Given the description of an element on the screen output the (x, y) to click on. 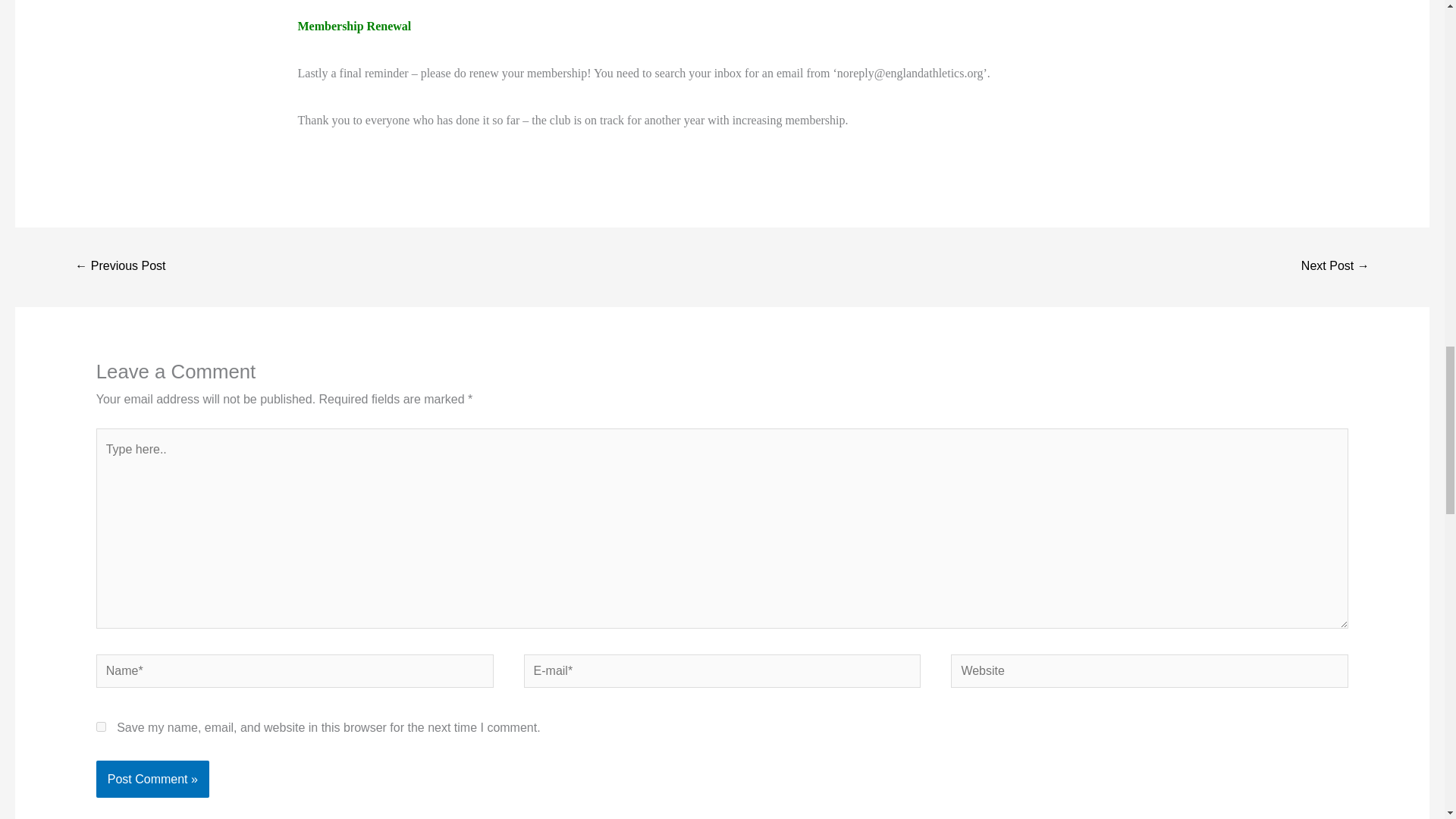
yes (101, 726)
DPR June Newsletter (1334, 267)
DPR Calendar (119, 267)
